Given the description of an element on the screen output the (x, y) to click on. 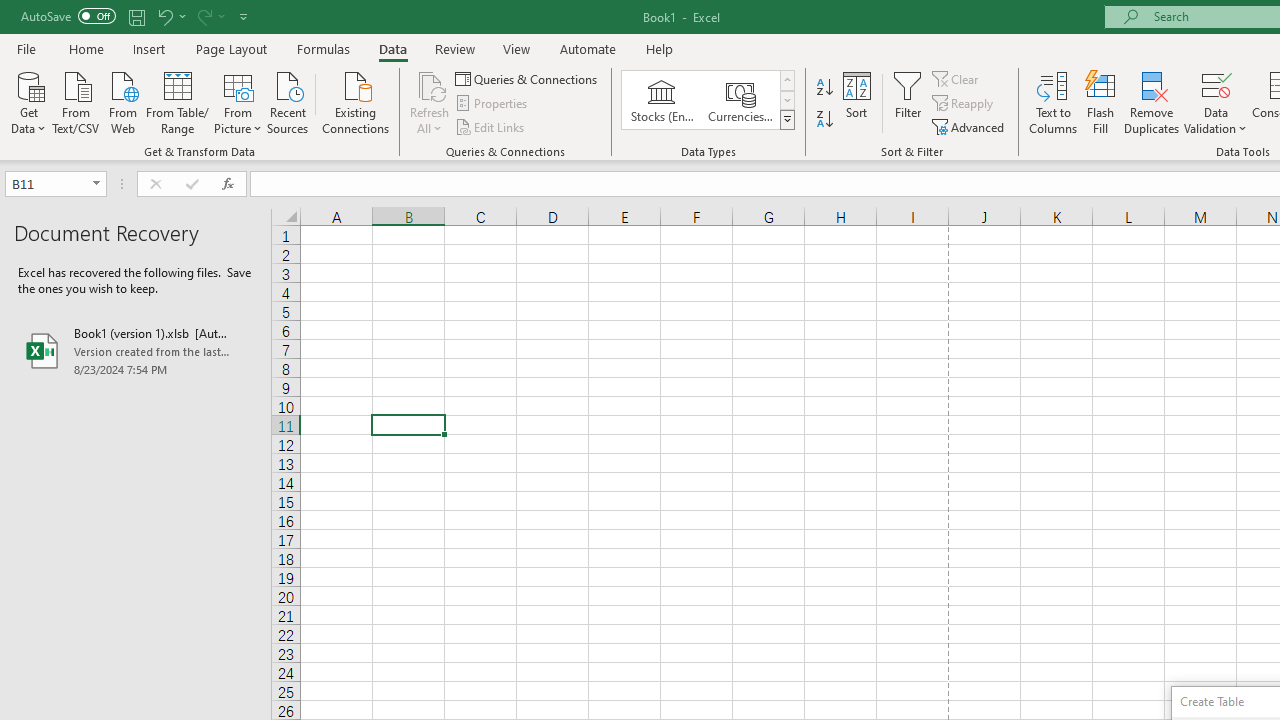
Get Data (28, 101)
Existing Connections (355, 101)
Properties (492, 103)
Data Types (786, 120)
AutomationID: ConvertToLinkedEntity (708, 99)
